Given the description of an element on the screen output the (x, y) to click on. 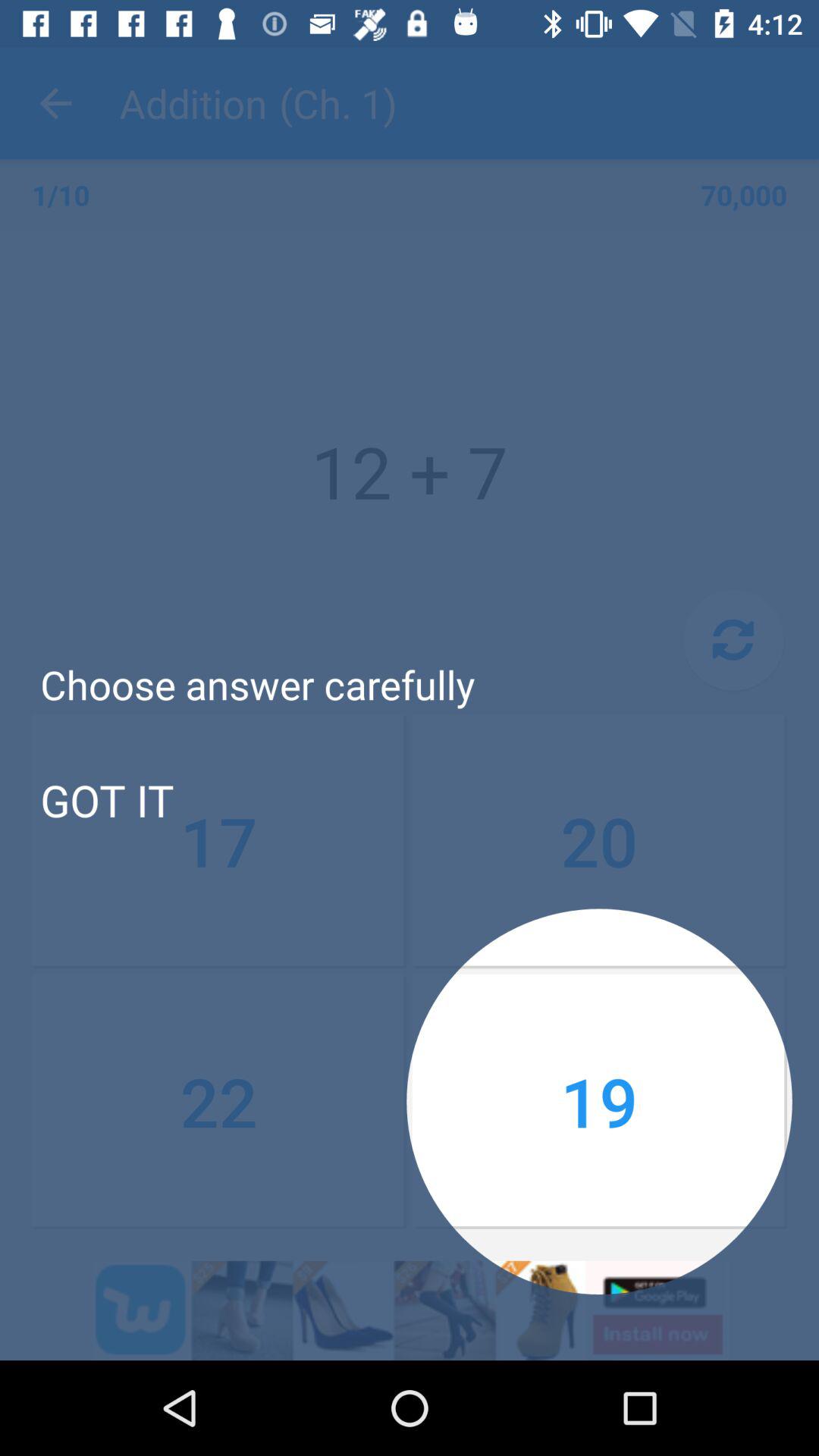
select the number which is above 19 (599, 840)
